Given the description of an element on the screen output the (x, y) to click on. 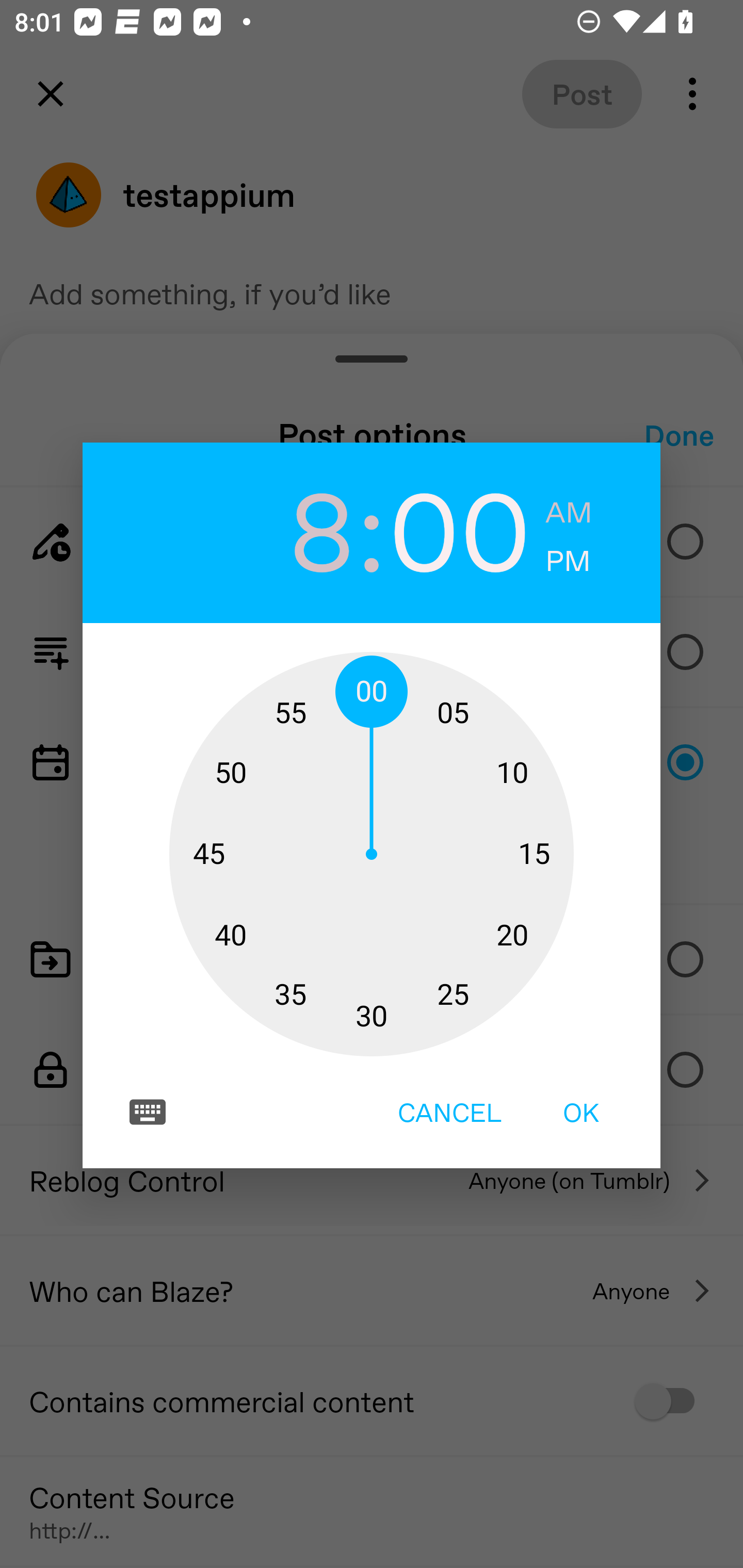
8 (282, 528)
00 (459, 528)
AM (568, 512)
PM (567, 560)
CANCEL (449, 1111)
OK (580, 1111)
Switch to text input mode for the time input. (147, 1112)
